Given the description of an element on the screen output the (x, y) to click on. 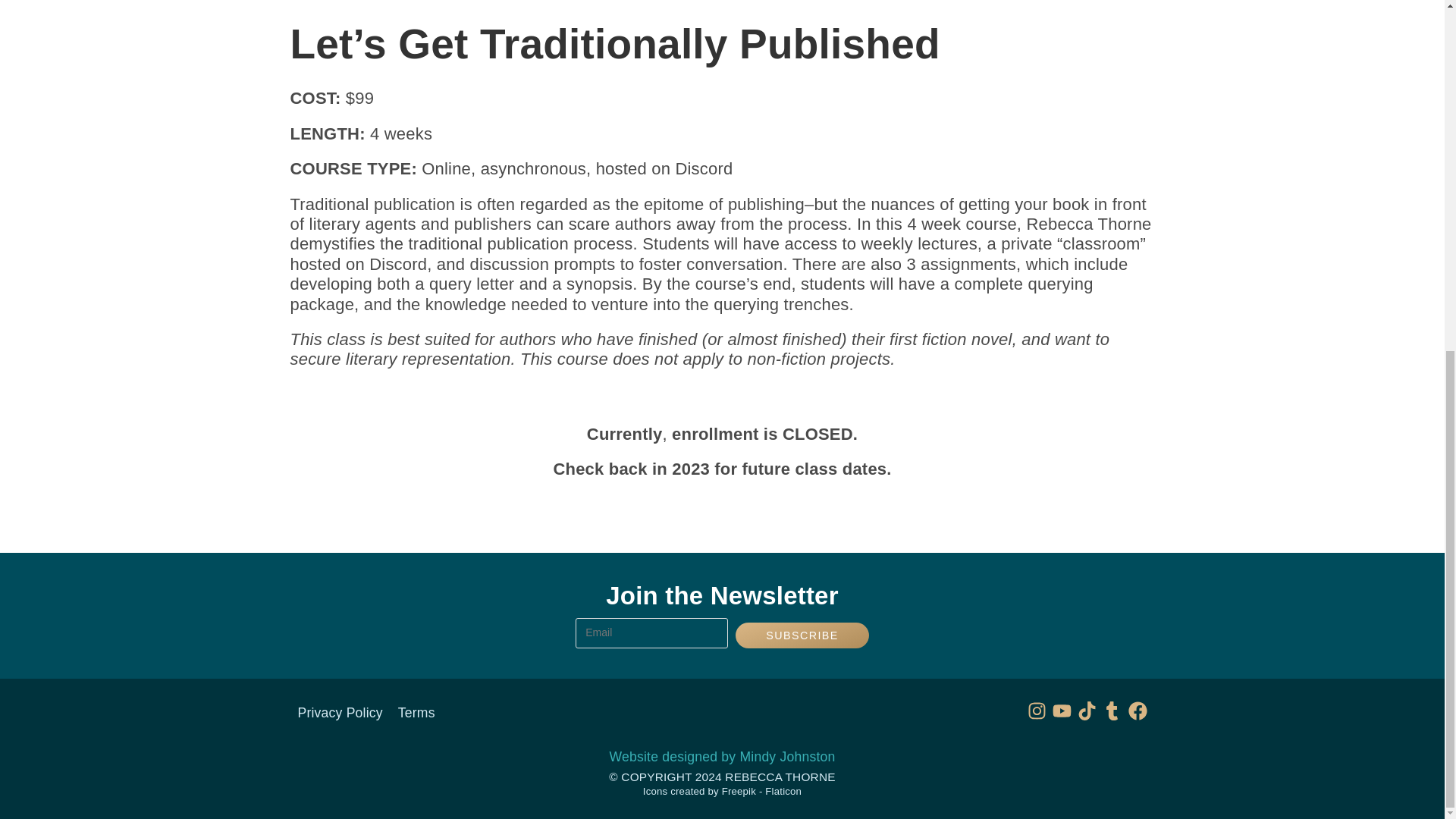
Terms (416, 712)
Website designed by Mindy Johnston (722, 756)
Icons created by Freepik - Flaticon (722, 790)
Privacy Policy (339, 712)
SUBSCRIBE (802, 635)
